Given the description of an element on the screen output the (x, y) to click on. 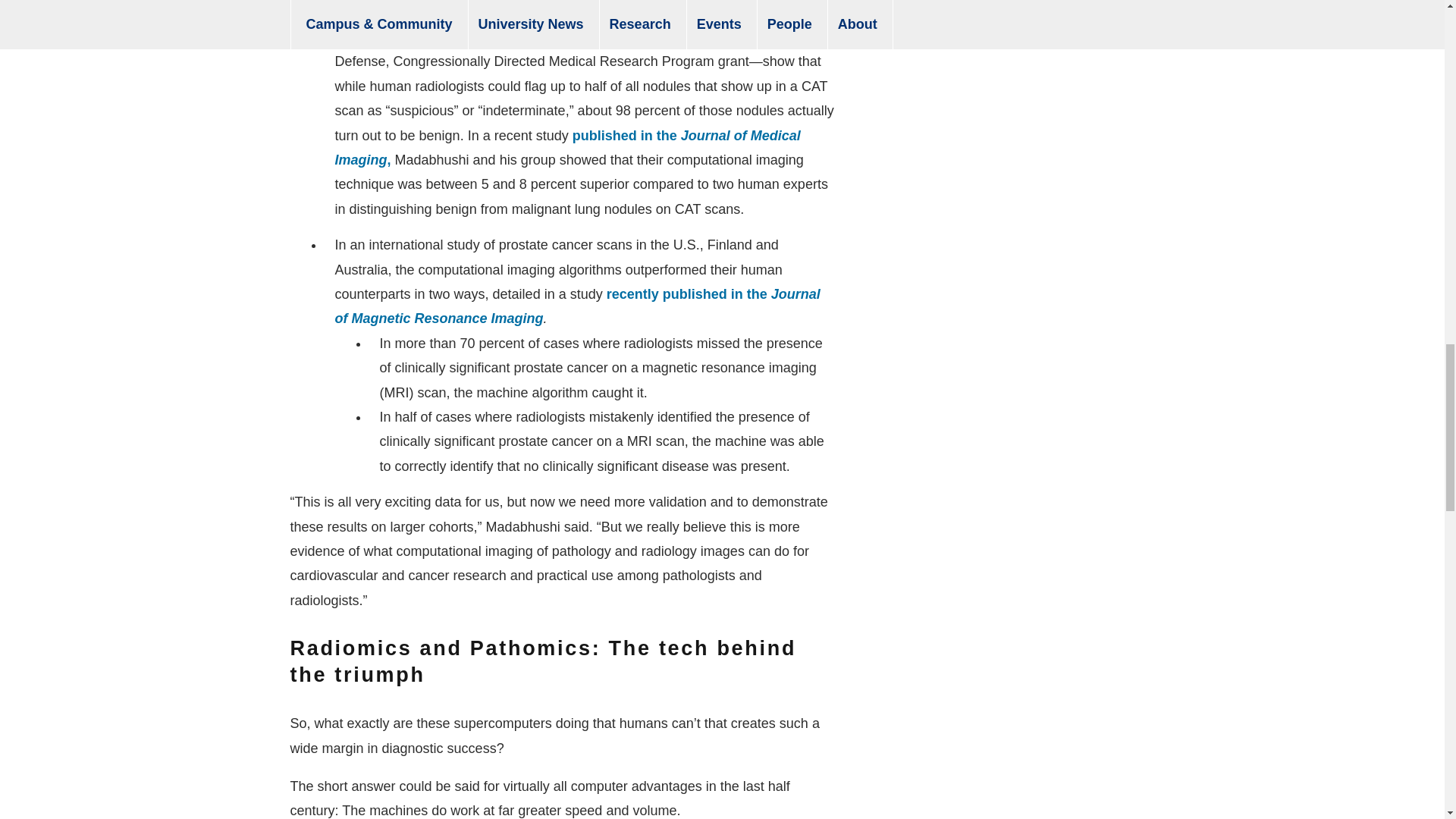
published in the journal PLOS ONE (578, 4)
published in the Journal of Medical Imaging, (567, 147)
